Given the description of an element on the screen output the (x, y) to click on. 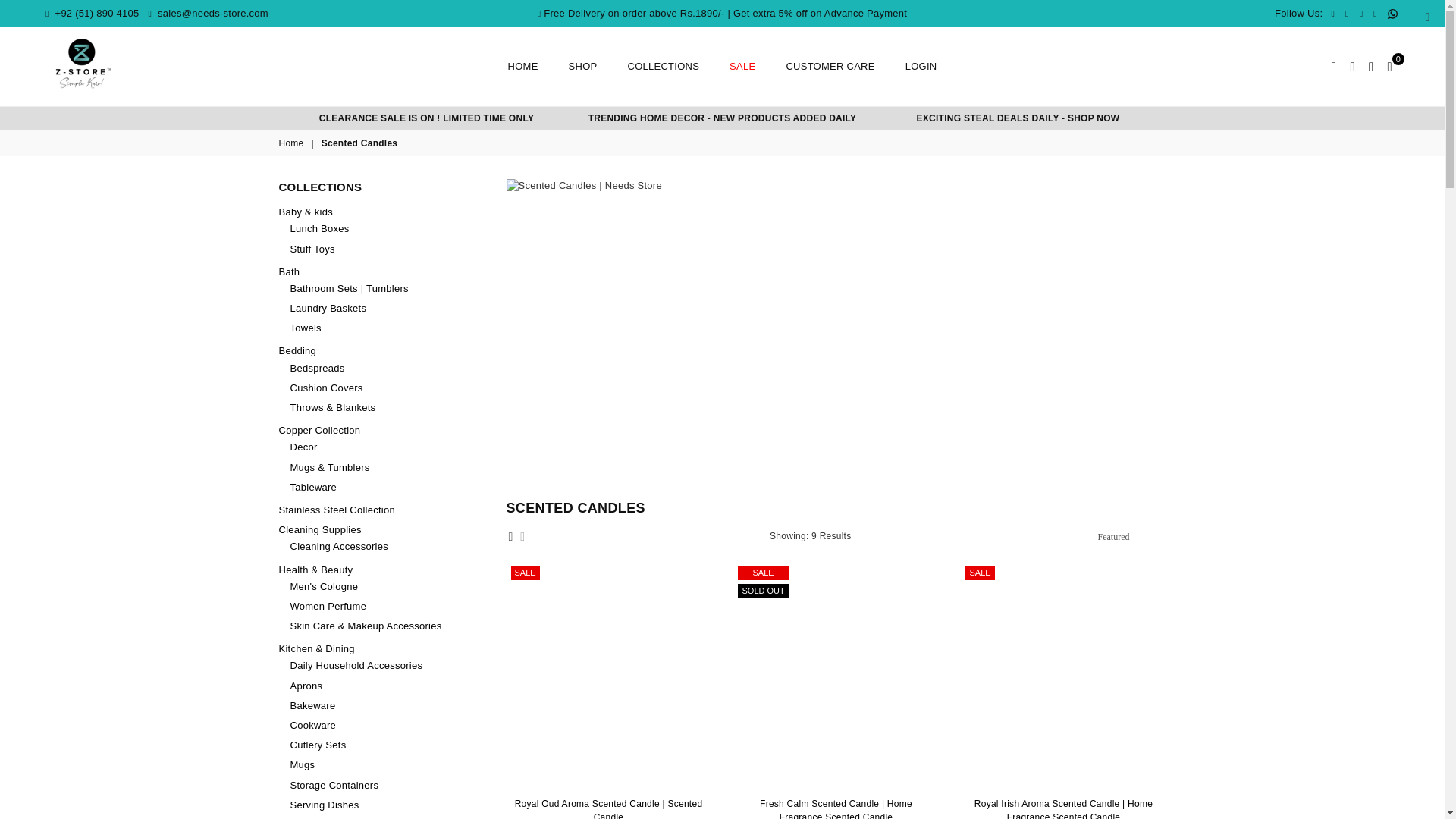
Whatsapp (1392, 13)
Needs Store on Twitter (1346, 13)
Facebook (1331, 13)
SHOP (582, 66)
Back to the home page (292, 143)
NEEDS STORE (82, 64)
Needs Store on Facebook (1331, 13)
Needs Store on Pinterest (1361, 13)
Instagram (1374, 13)
HOME (523, 66)
